Given the description of an element on the screen output the (x, y) to click on. 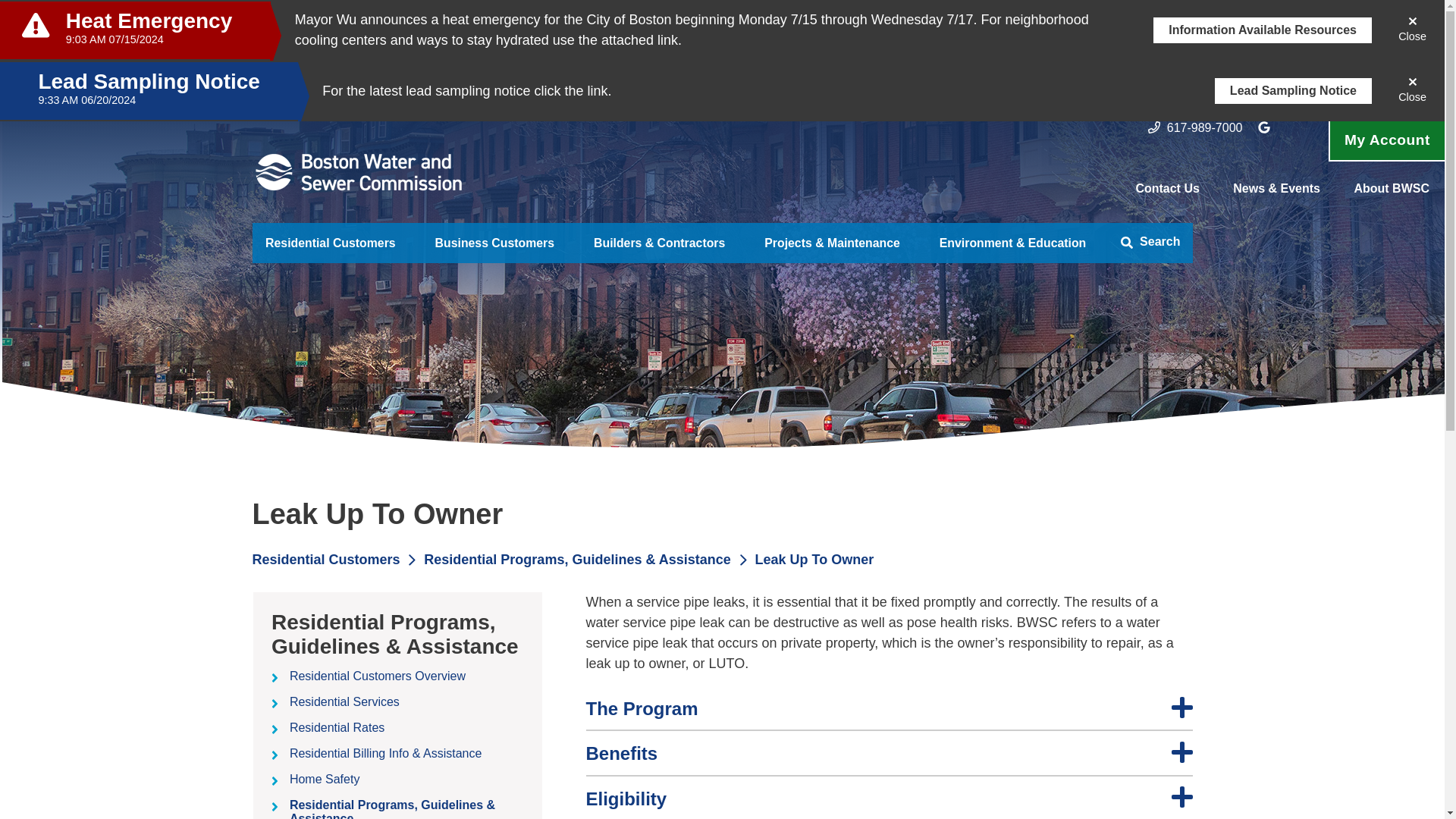
Contact Us (1166, 188)
617-989-7000 (1205, 127)
Close (1411, 30)
Lead Sampling Notice (1292, 90)
About BWSC (1391, 188)
Residential Customers (330, 243)
Home (357, 172)
Information Available Resources (1262, 30)
Close (1411, 91)
Business Customers (494, 243)
